Given the description of an element on the screen output the (x, y) to click on. 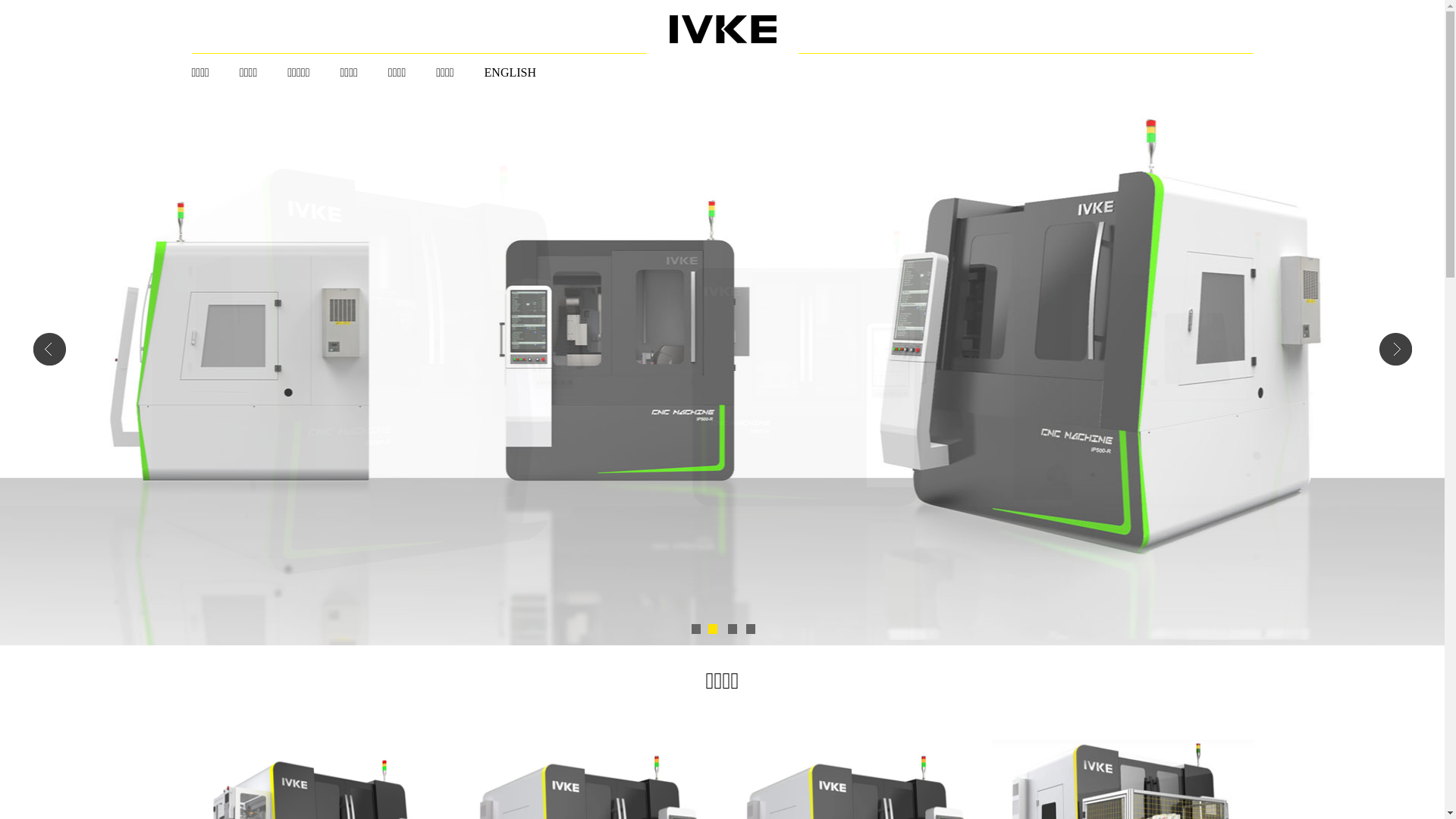
ENGLISH Element type: text (510, 72)
2 Element type: text (713, 629)
1 Element type: text (695, 629)
4 Element type: text (749, 629)
3 Element type: text (731, 629)
